Given the description of an element on the screen output the (x, y) to click on. 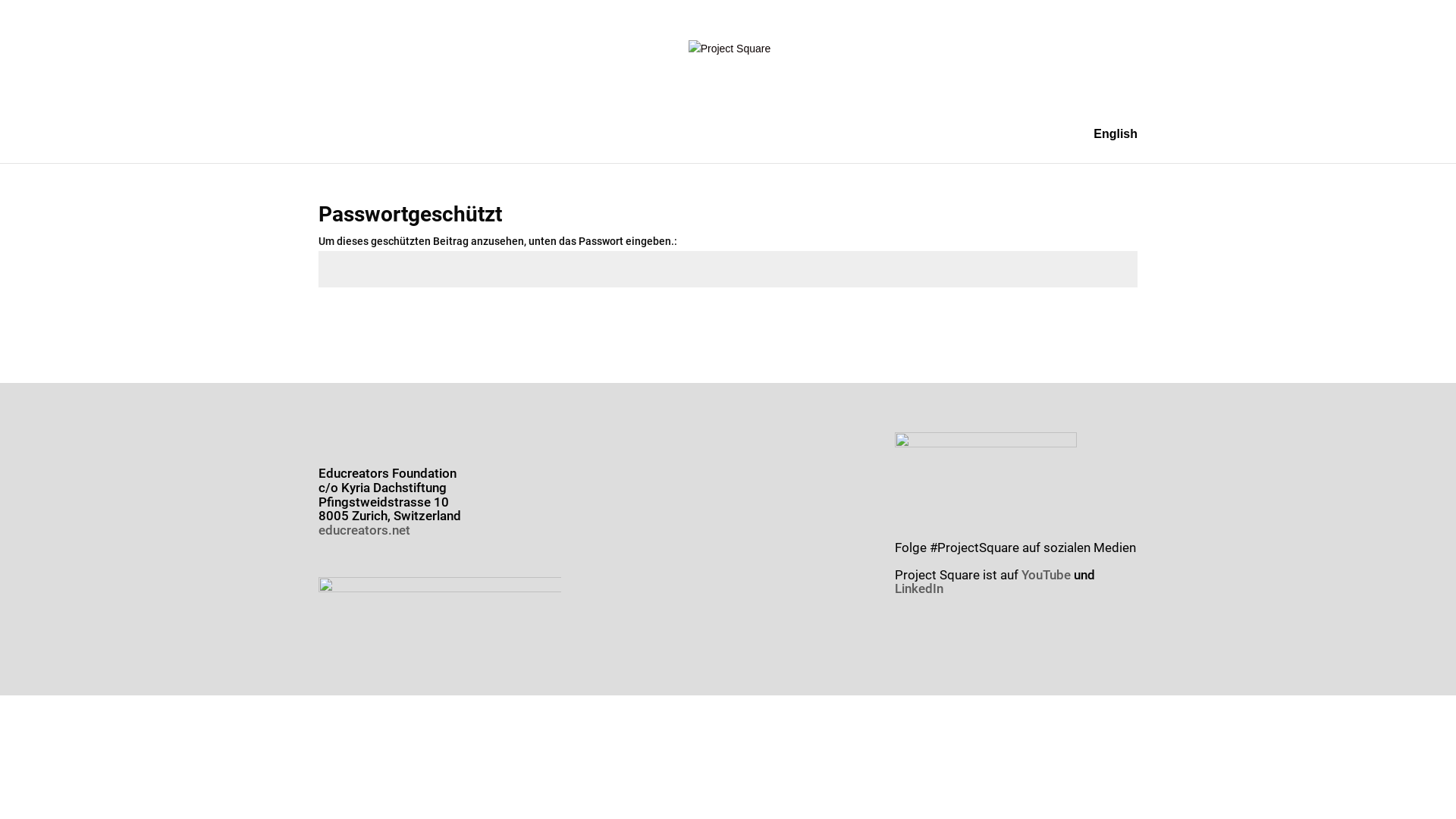
LinkedIn Element type: text (918, 588)
YouTube Element type: text (1045, 574)
English Element type: text (1115, 145)
Senden Element type: text (1095, 323)
educreators.net Element type: text (364, 529)
